Given the description of an element on the screen output the (x, y) to click on. 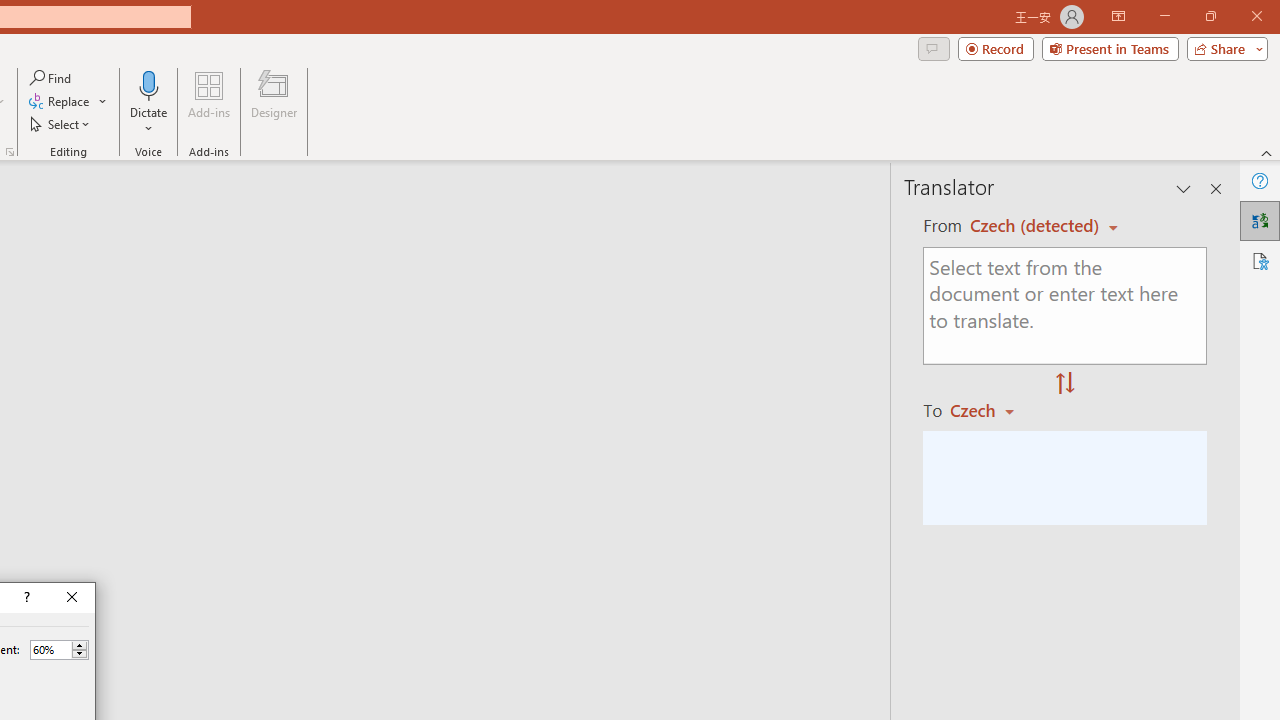
Czech (detected) (1037, 225)
Percent (59, 650)
